Given the description of an element on the screen output the (x, y) to click on. 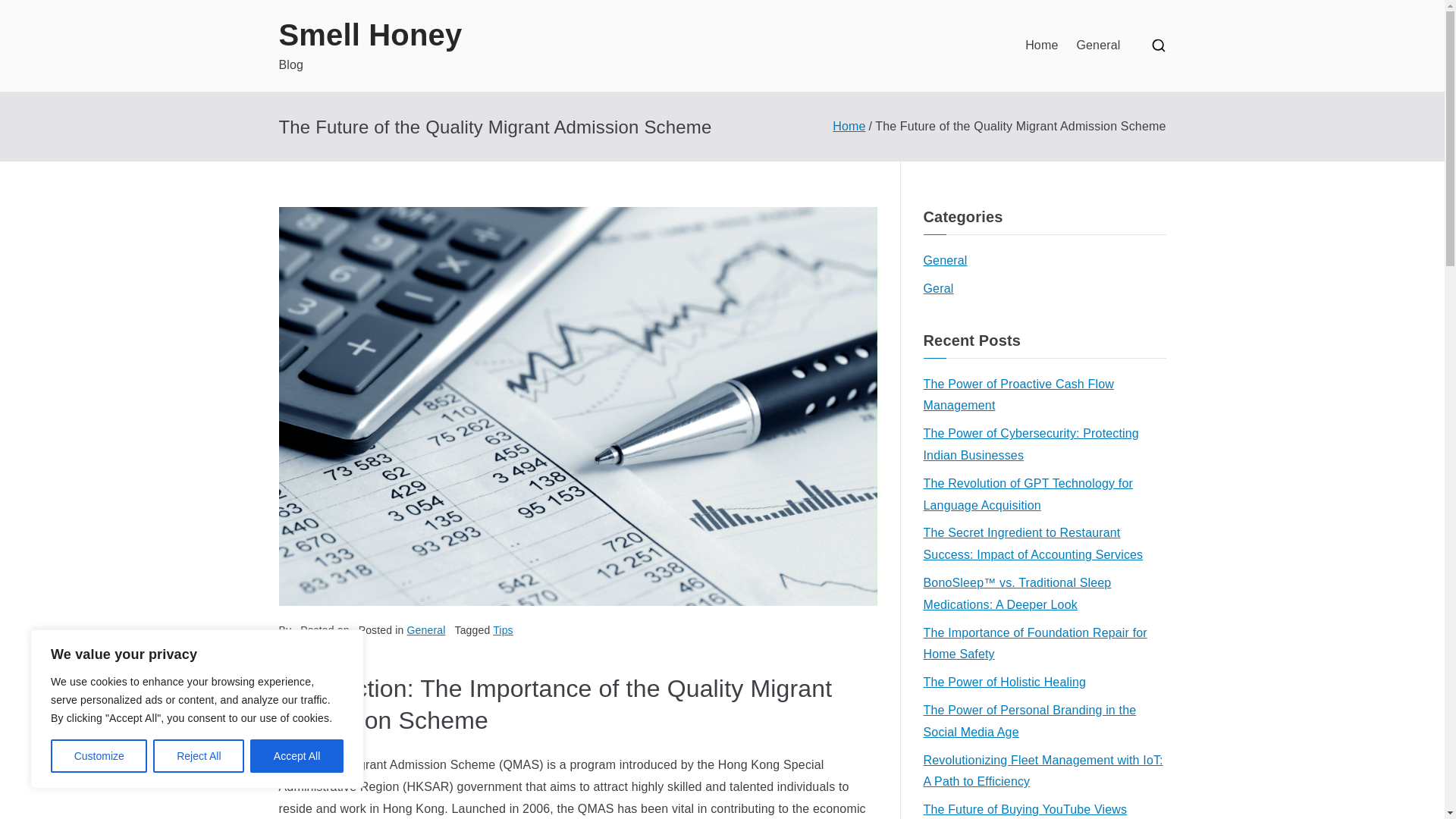
General (945, 260)
Accept All (296, 756)
General (426, 630)
The Power of Cybersecurity: Protecting Indian Businesses (1044, 444)
Reject All (198, 756)
General (1097, 45)
Home (1041, 45)
The Power of Proactive Cash Flow Management (1044, 395)
Geral (938, 289)
Smell Honey (371, 34)
